Given the description of an element on the screen output the (x, y) to click on. 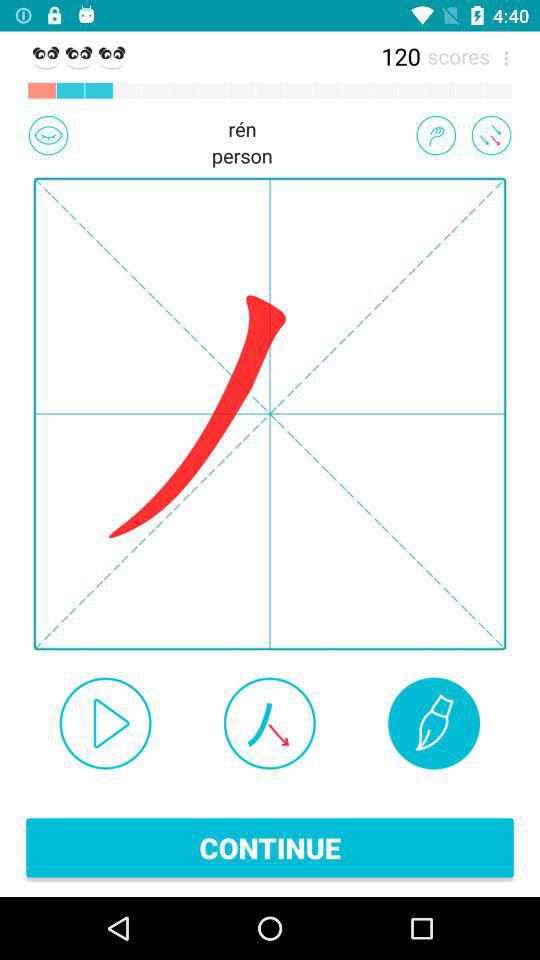
paint (434, 723)
